Given the description of an element on the screen output the (x, y) to click on. 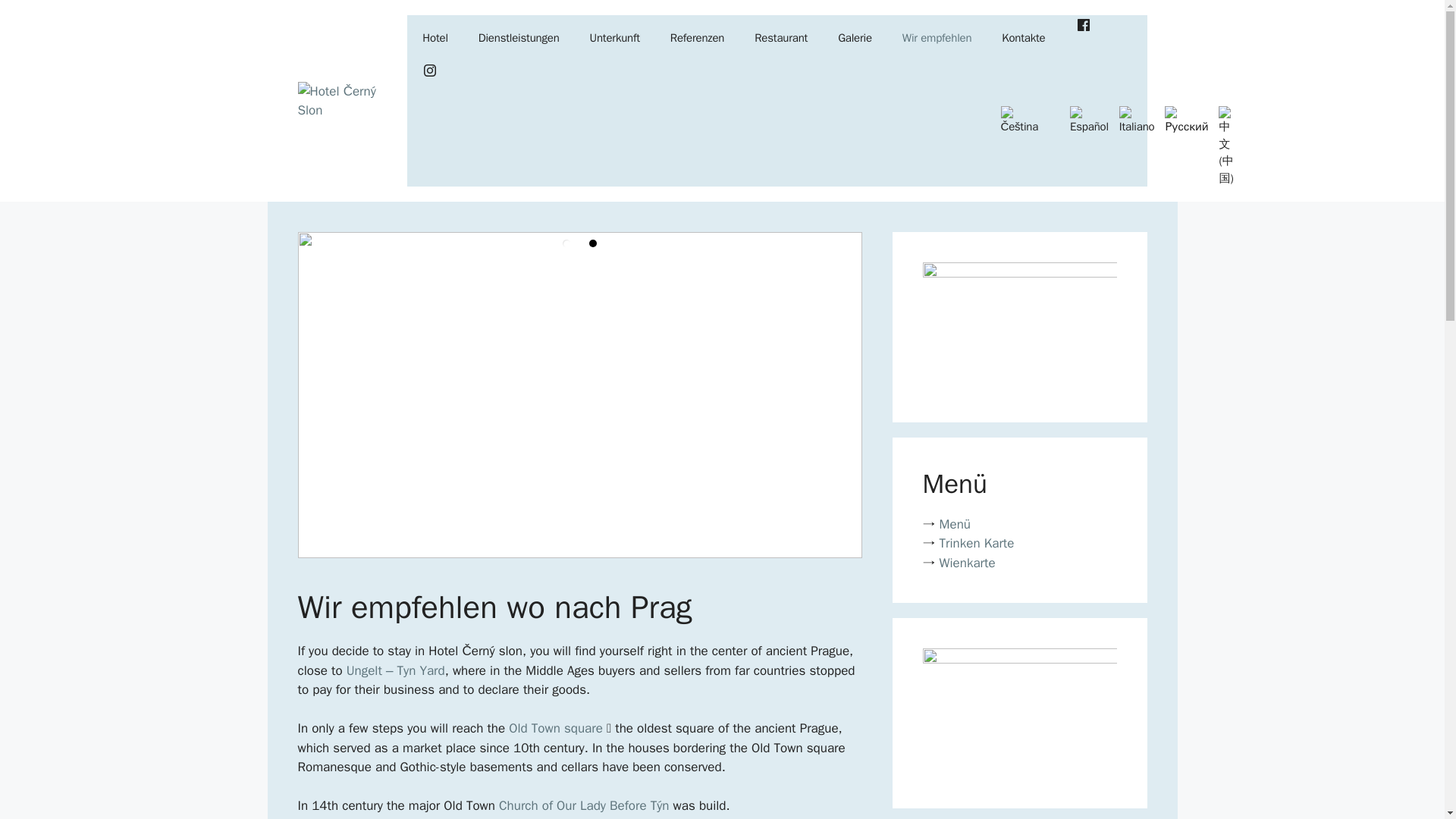
Kontakte (1023, 37)
Referenzen (697, 37)
Galerie (854, 37)
Dienstleistungen (519, 37)
Wir empfehlen (936, 37)
Hotel (435, 37)
Unterkunft (615, 37)
Old Town square (555, 728)
Restaurant (780, 37)
